Given the description of an element on the screen output the (x, y) to click on. 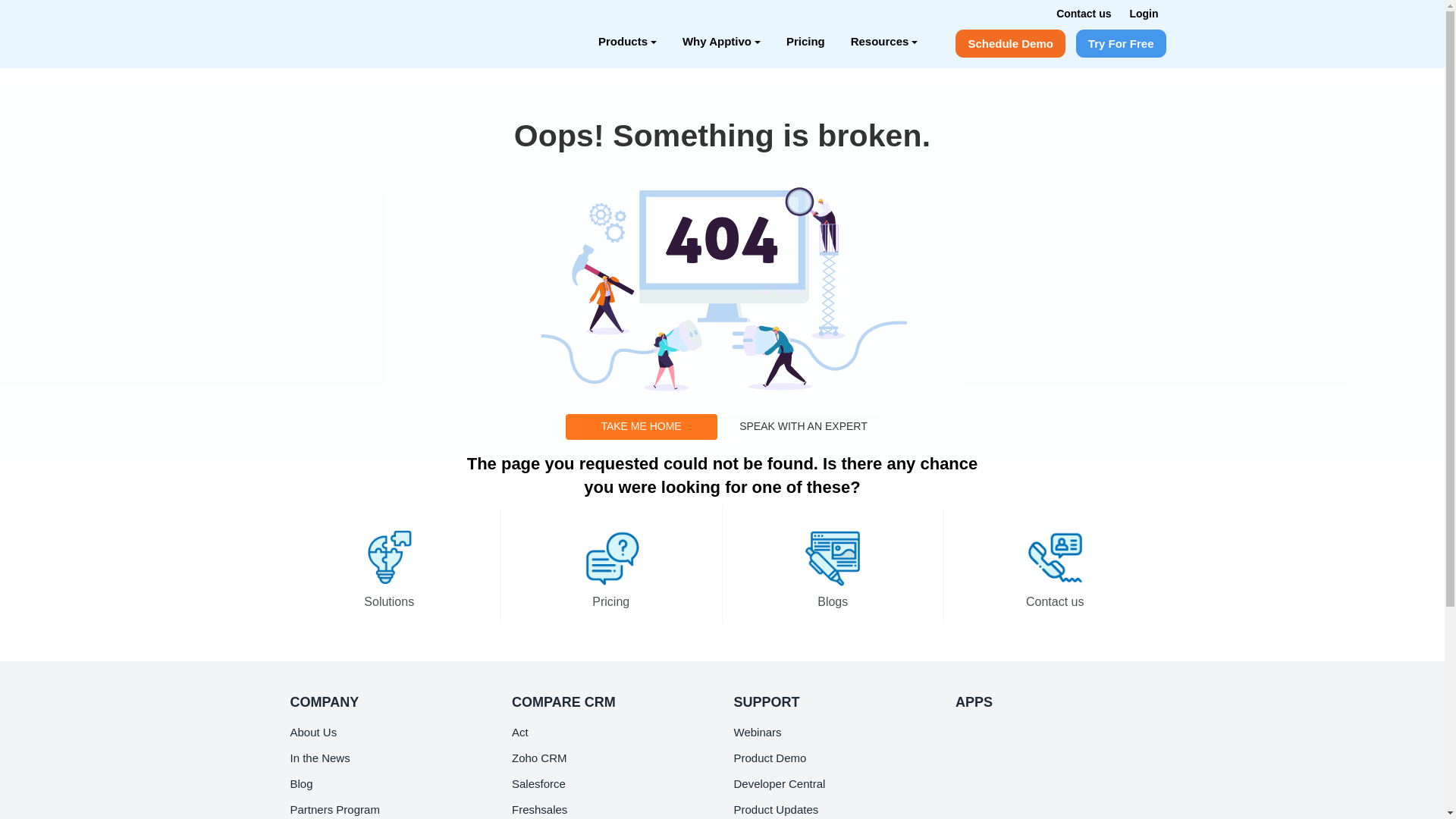
Products (627, 41)
GET IT ON Google Play (1009, 778)
In the News (319, 758)
Download on the Windows Store (1009, 809)
Contact us (1083, 13)
Download on the AppStore (1009, 739)
Login (1143, 13)
